Given the description of an element on the screen output the (x, y) to click on. 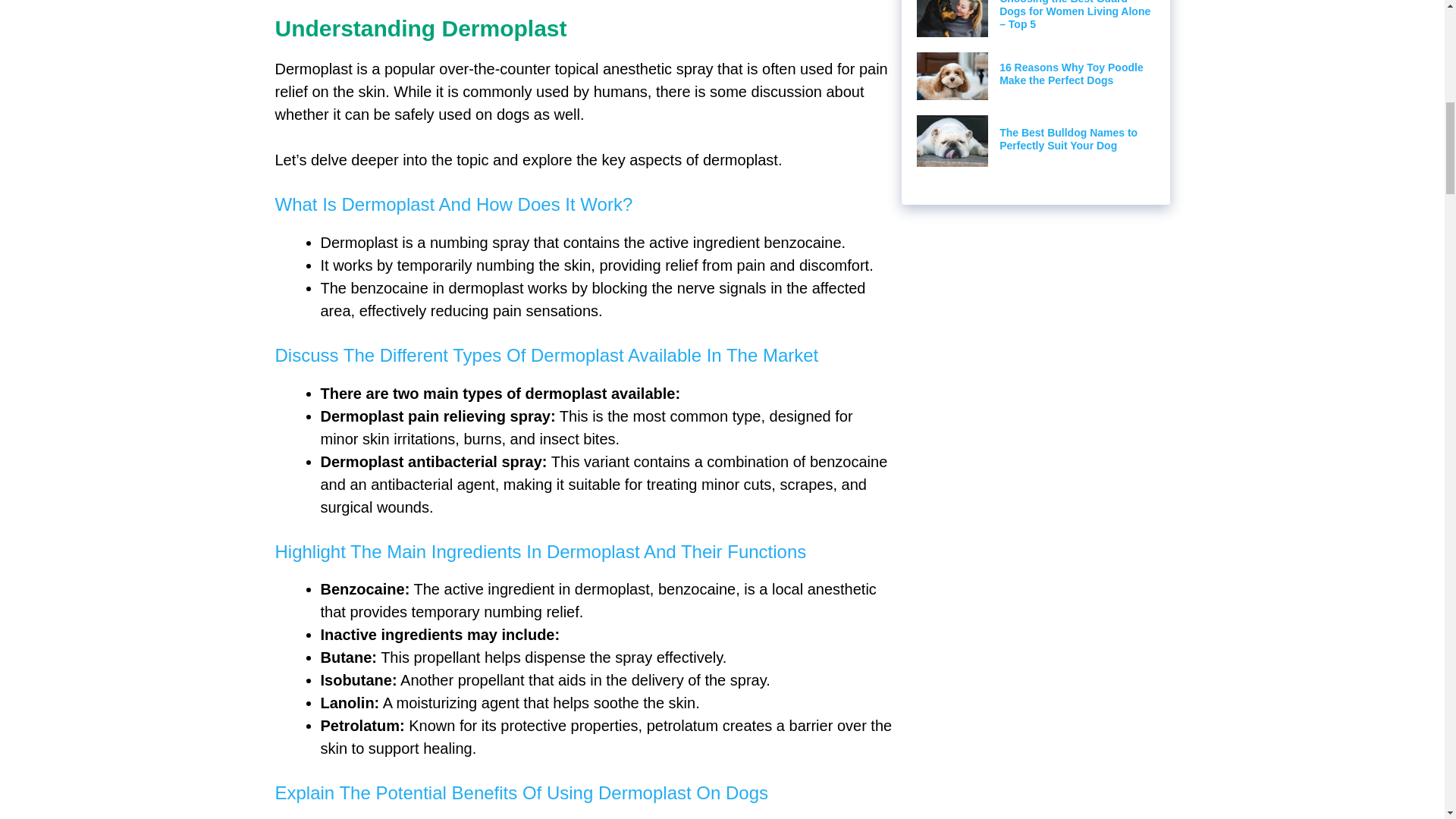
Scroll back to top (1406, 720)
16 Reasons Why Toy Poodle Make the Perfect Dogs (1070, 73)
The Best Bulldog Names to Perfectly Suit Your Dog (1067, 138)
